Given the description of an element on the screen output the (x, y) to click on. 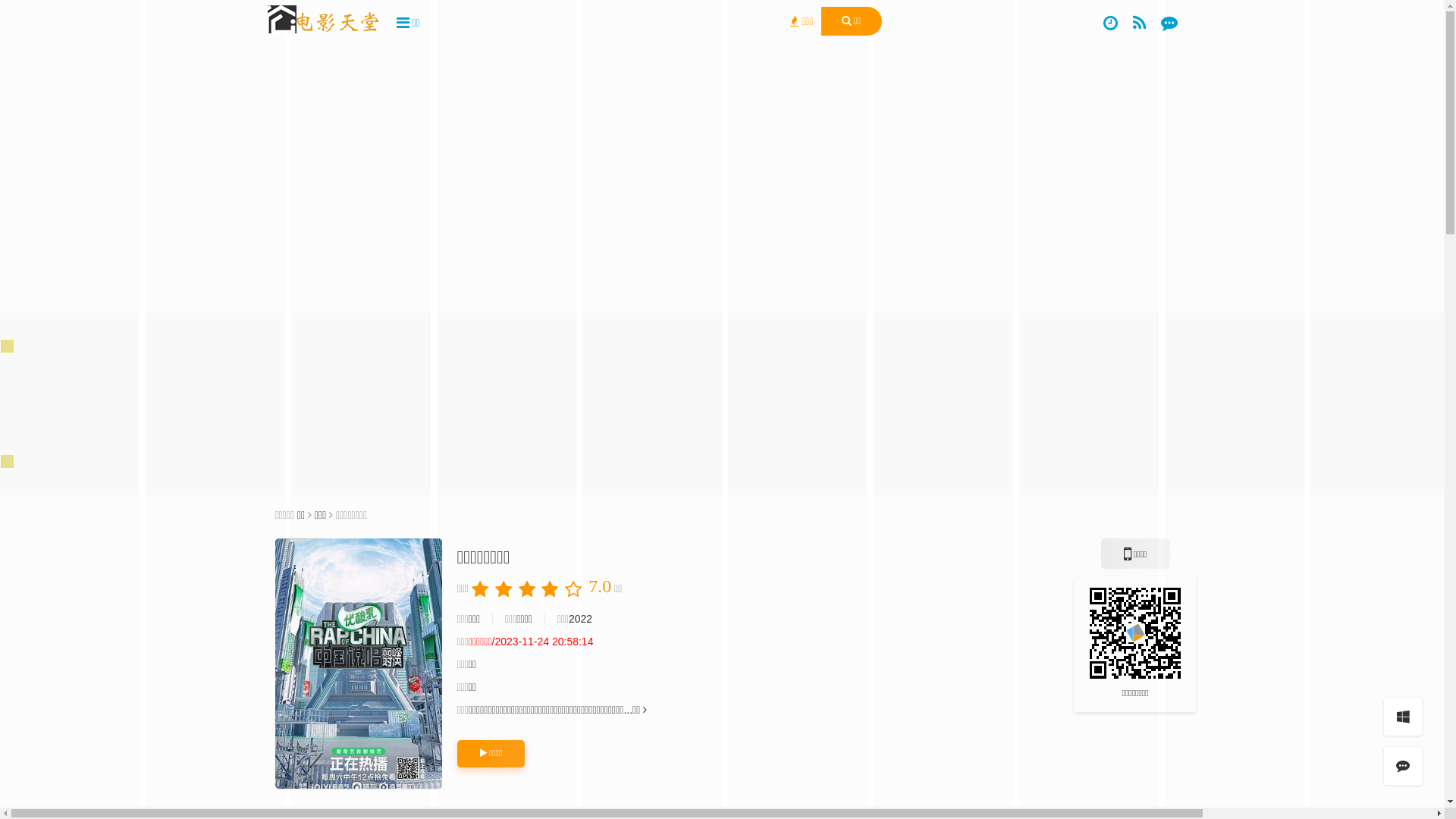
2022 Element type: text (580, 618)
http://www.zkkz.cc/vdtwb/144258.html Element type: hover (1134, 632)
